Given the description of an element on the screen output the (x, y) to click on. 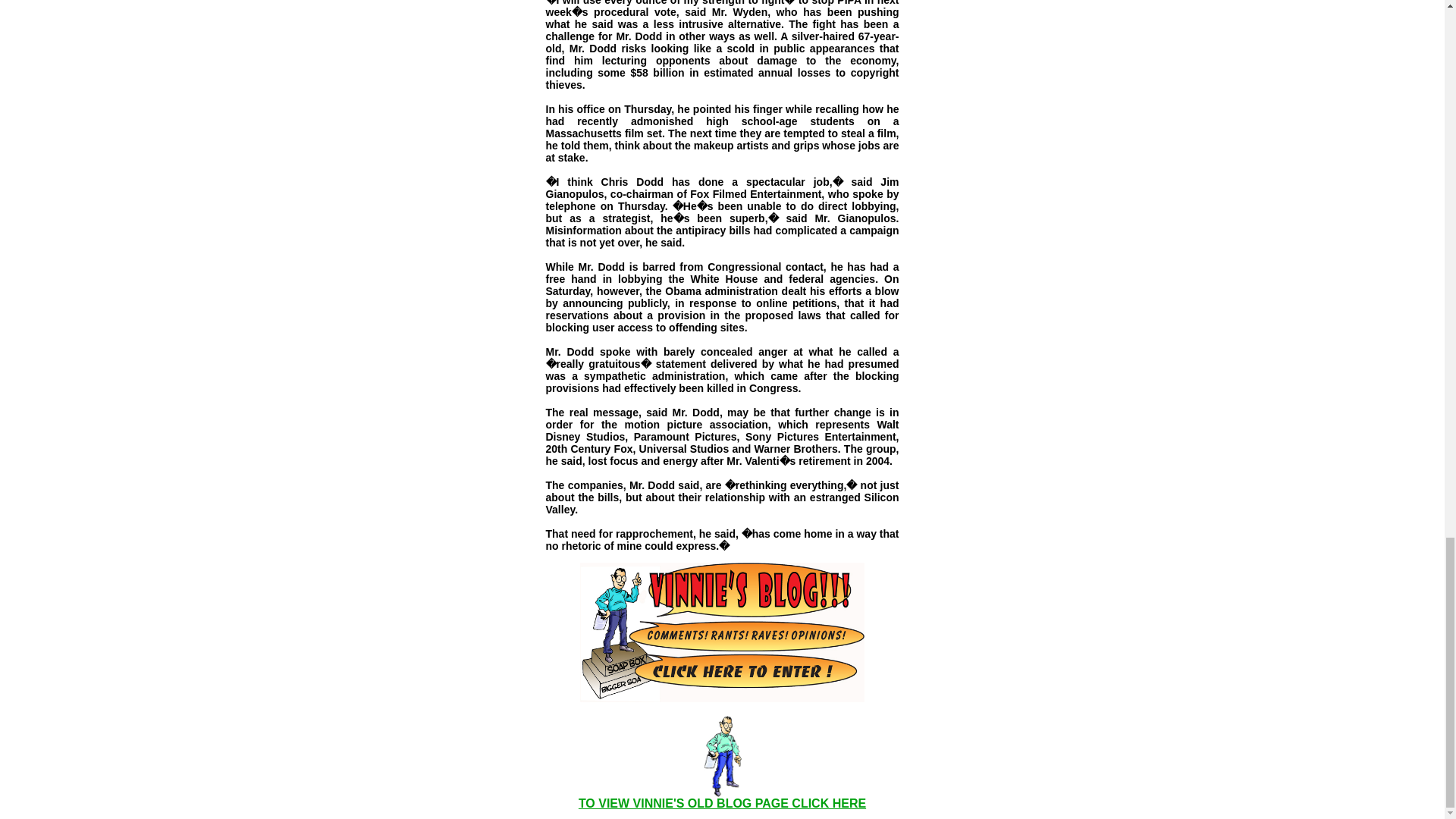
TO VIEW VINNIE'S OLD BLOG PAGE CLICK HERE (722, 802)
